Given the description of an element on the screen output the (x, y) to click on. 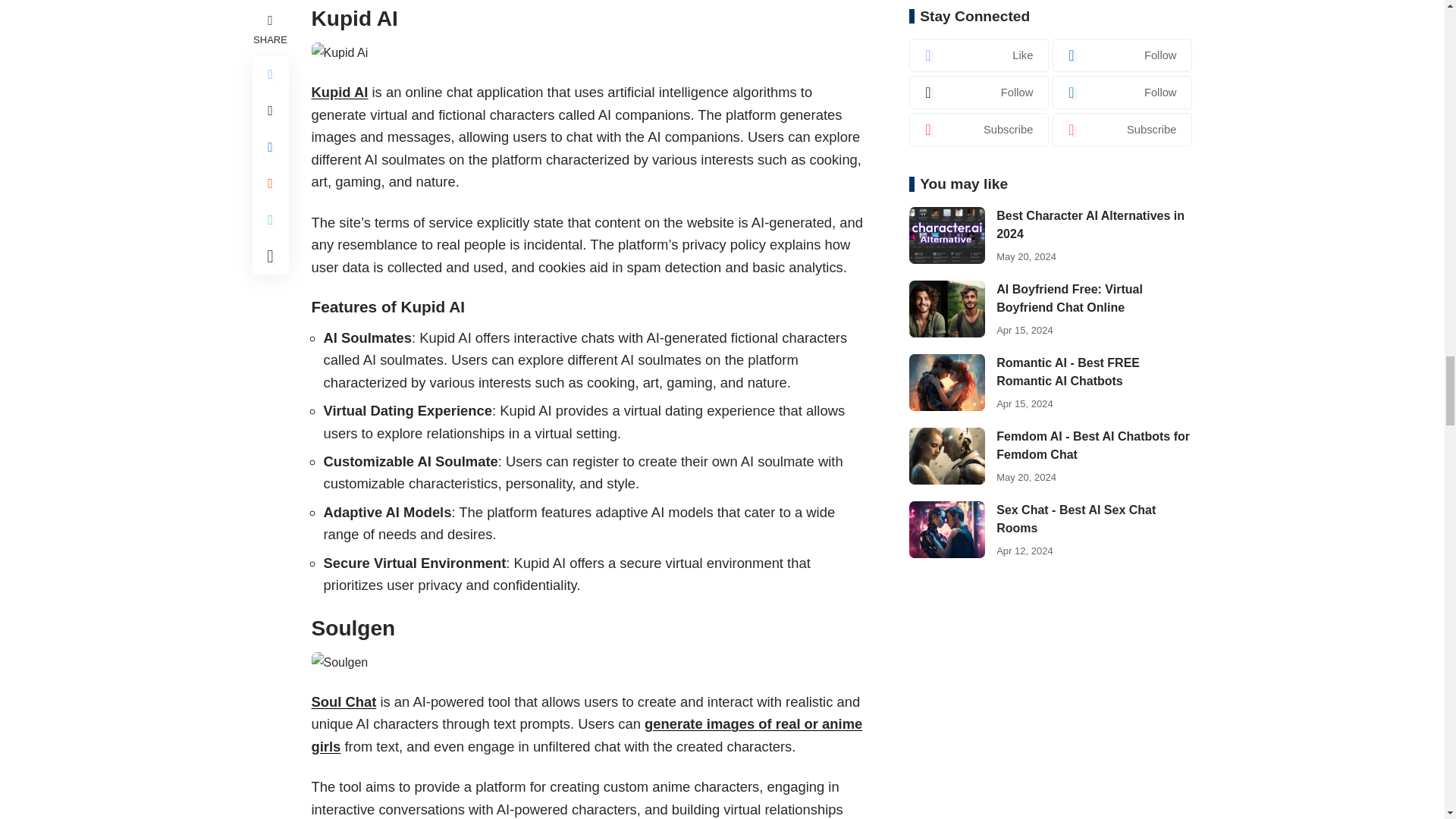
9 Best Janitor Ai Alternatives You Must Try Now (339, 52)
9 Best Janitor Ai Alternatives You Must Try Now (339, 661)
